Given the description of an element on the screen output the (x, y) to click on. 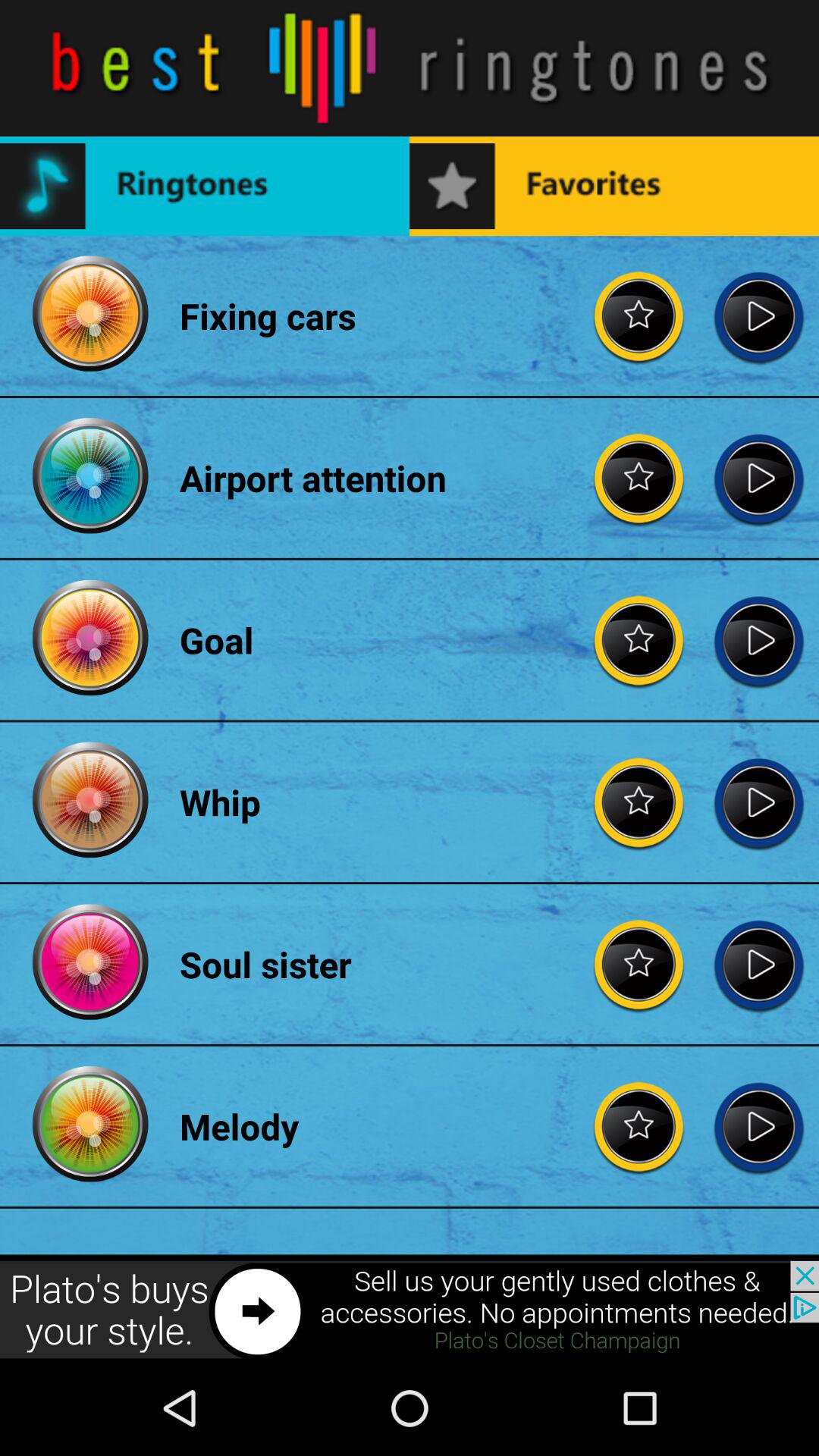
play this ringtone (758, 1126)
